Given the description of an element on the screen output the (x, y) to click on. 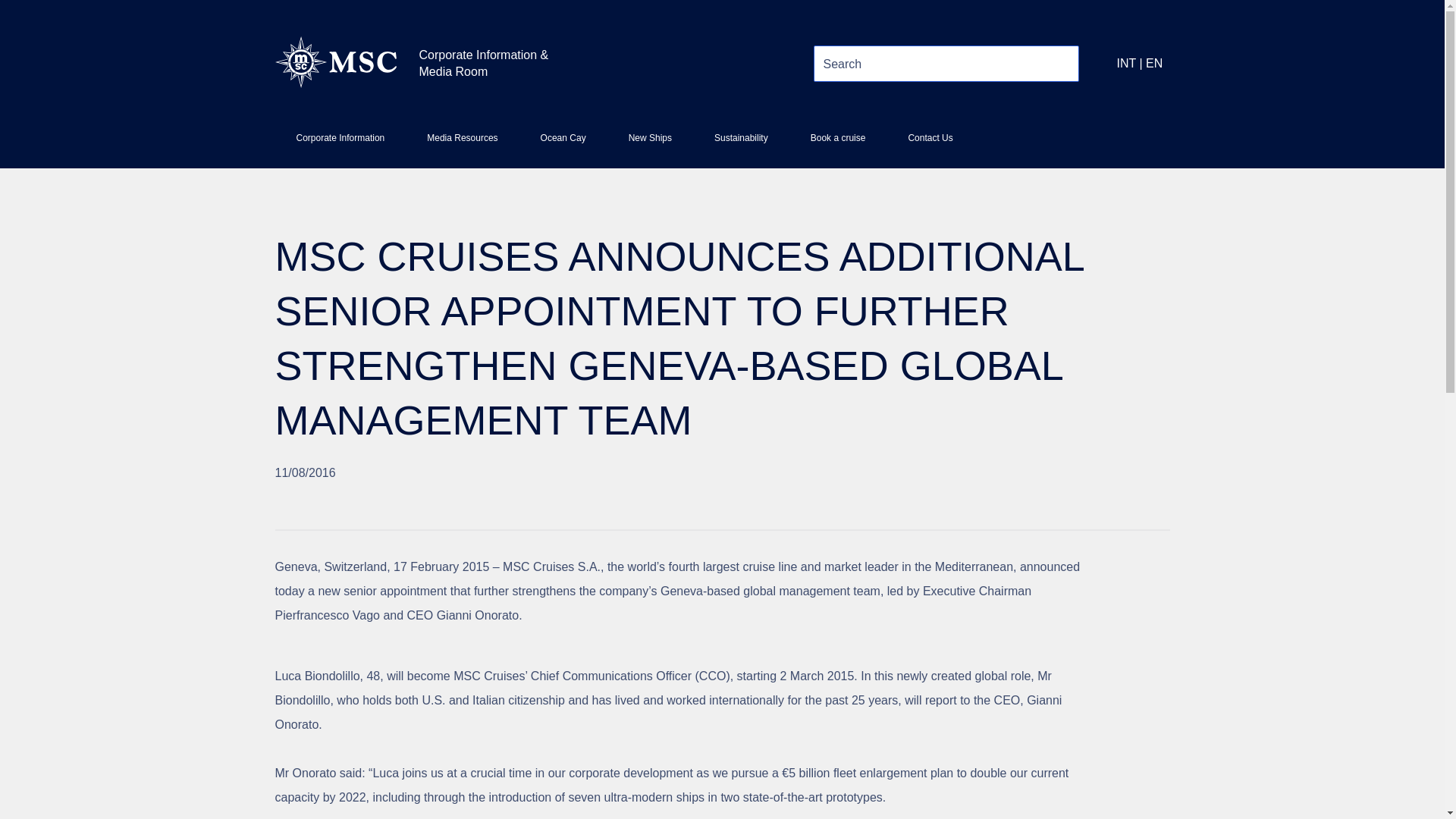
New Ships (650, 143)
Corporate Information (340, 143)
Contact Us (930, 143)
Sustainability (741, 143)
Media Resources (462, 143)
Book a cruise (837, 143)
Ocean Cay (563, 143)
